Given the description of an element on the screen output the (x, y) to click on. 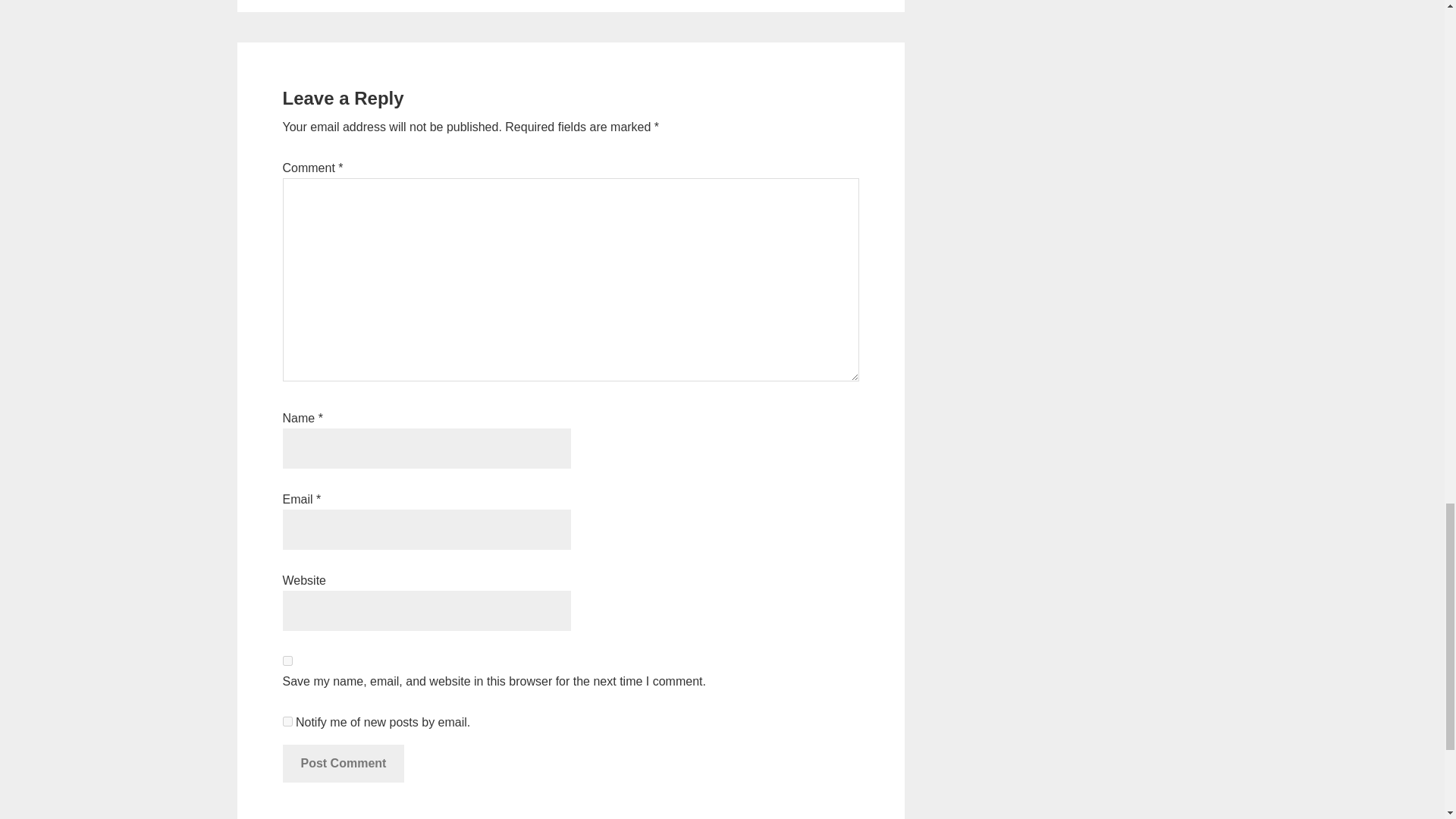
yes (287, 660)
Post Comment (343, 763)
subscribe (287, 721)
Post Comment (343, 763)
